Given the description of an element on the screen output the (x, y) to click on. 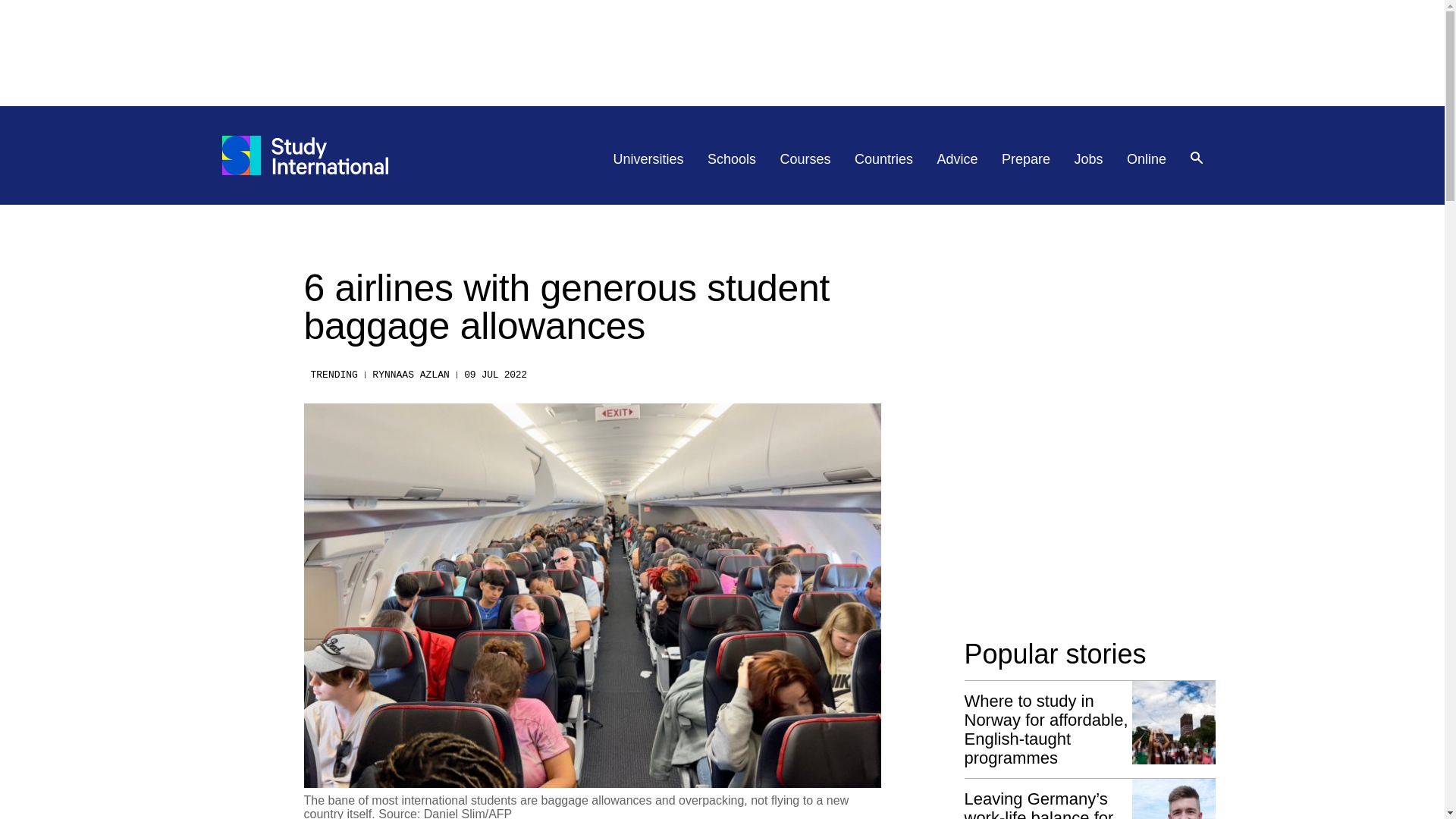
Universities (648, 159)
Schools (731, 159)
Online (1146, 159)
Prepare (1025, 159)
Advice (957, 159)
Courses (805, 159)
Jobs (1088, 159)
RYNNAAS AZLAN (410, 374)
Countries (883, 159)
